Given the description of an element on the screen output the (x, y) to click on. 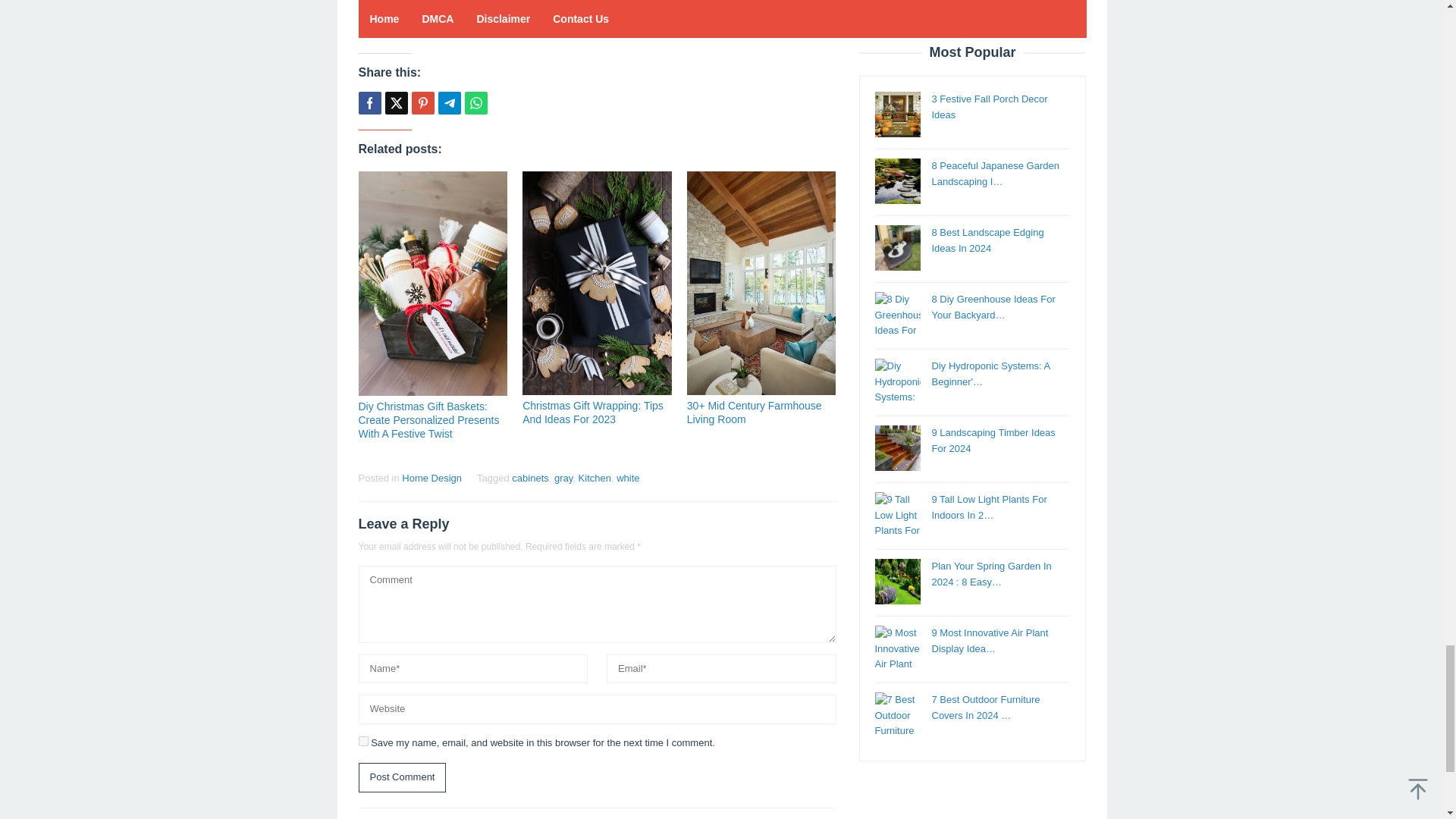
Telegram Share (449, 102)
Post Comment (401, 777)
cabinets (530, 478)
Tweet this (396, 102)
gray (563, 478)
Christmas Gift Wrapping: Tips And Ideas For 2023 (592, 412)
Home Design (431, 478)
yes (363, 741)
white (627, 478)
Whatsapp (475, 102)
Pin this (421, 102)
Share this (369, 102)
